Given the description of an element on the screen output the (x, y) to click on. 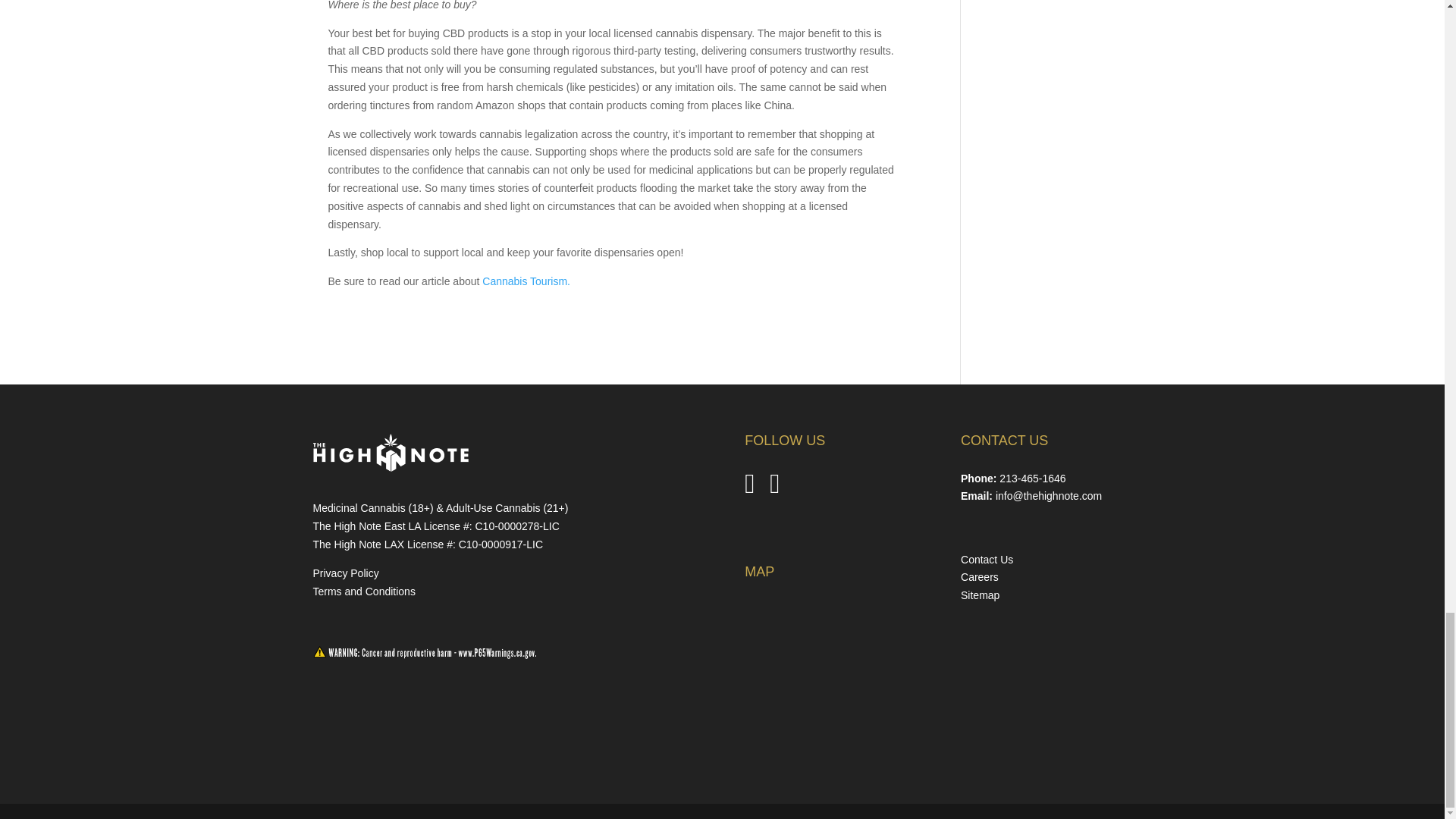
Cannabis Tourism. (525, 281)
